Given the description of an element on the screen output the (x, y) to click on. 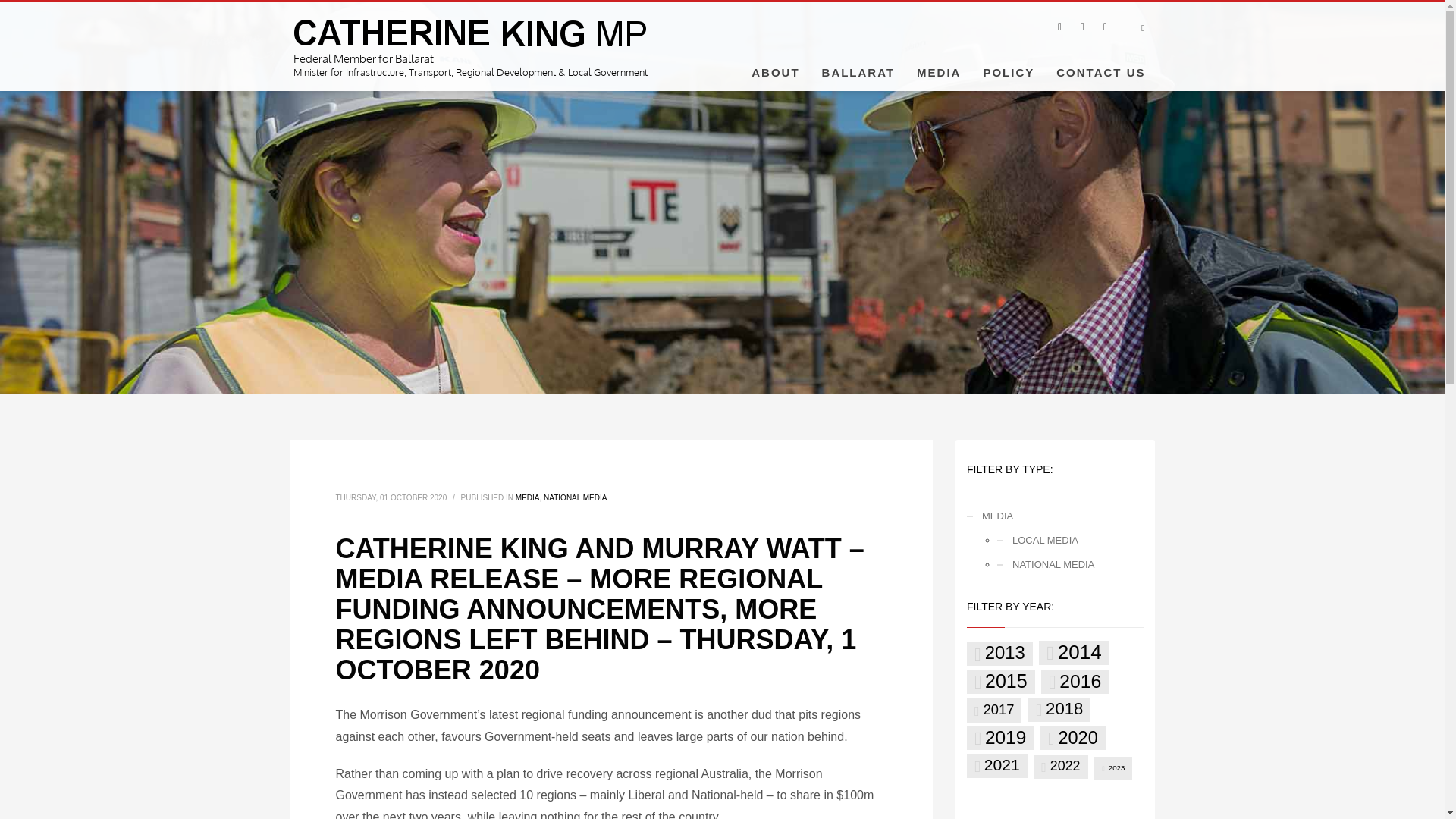
2022 (1060, 766)
2020 (1073, 738)
2023 (1113, 767)
TWITTER (1081, 26)
NATIONAL MEDIA (575, 497)
MEDIA (938, 71)
2018 (1058, 709)
2013 (999, 653)
MEDIA (527, 497)
FACEBOOK (1059, 26)
2015 (1000, 681)
POLICY (1008, 71)
BALLARAT (858, 71)
2014 (1073, 652)
ABOUT (775, 71)
